Given the description of an element on the screen output the (x, y) to click on. 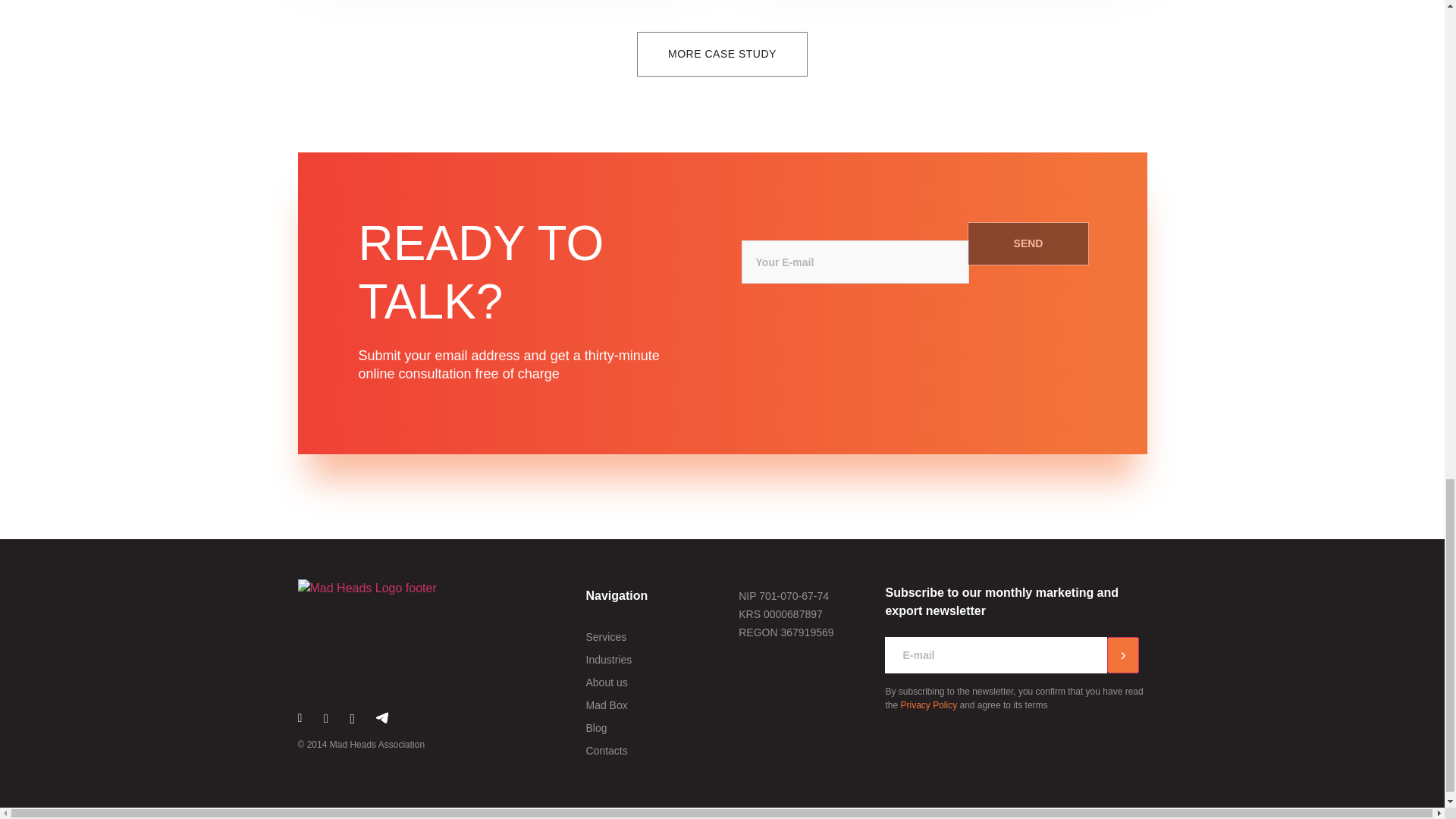
Mad Heads Logo footer (366, 588)
MORE CASE STUDY (722, 53)
SEND (1028, 243)
